Given the description of an element on the screen output the (x, y) to click on. 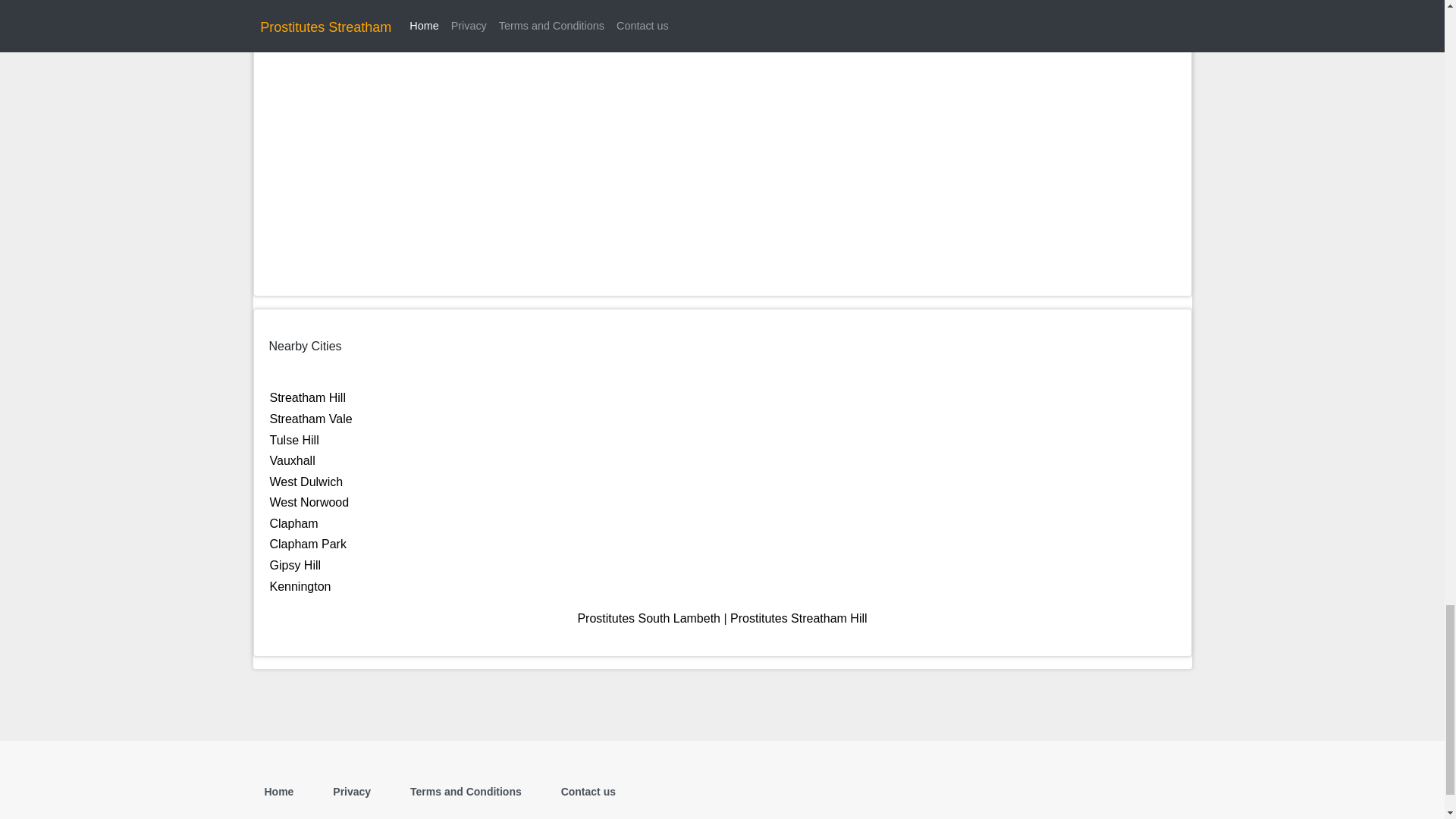
Vauxhall (292, 460)
Kennington (300, 585)
Streatham Hill (307, 397)
Clapham (293, 522)
Clapham Park (307, 543)
Prostitutes South Lambeth (648, 617)
Streatham Vale (310, 418)
Gipsy Hill (295, 564)
West Dulwich (306, 481)
West Norwood (309, 502)
Tulse Hill (293, 440)
Prostitutes Streatham Hill (798, 617)
